Given the description of an element on the screen output the (x, y) to click on. 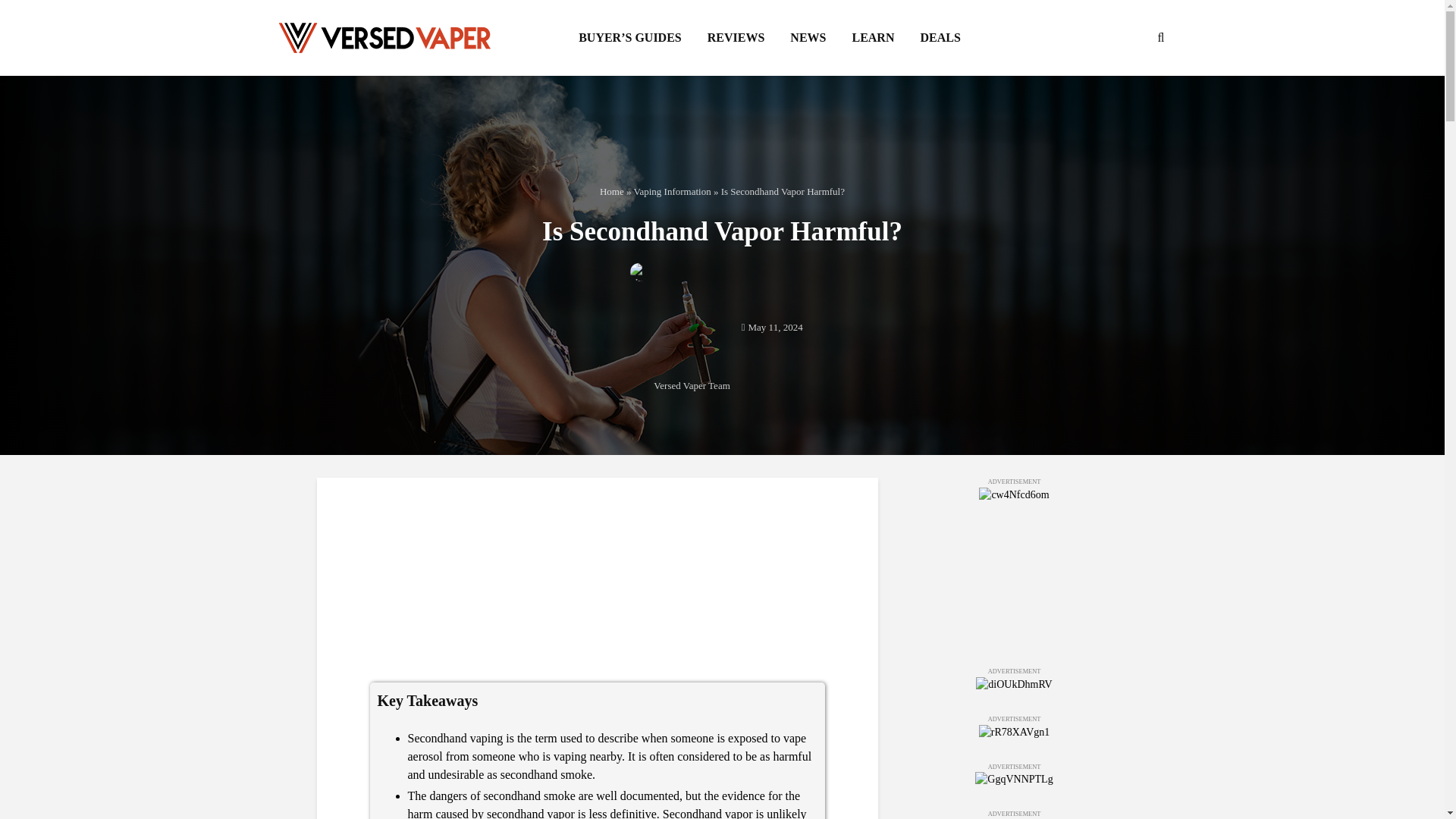
REVIEWS (735, 37)
NEWS (807, 37)
DEALS (939, 37)
LEARN (872, 37)
